Given the description of an element on the screen output the (x, y) to click on. 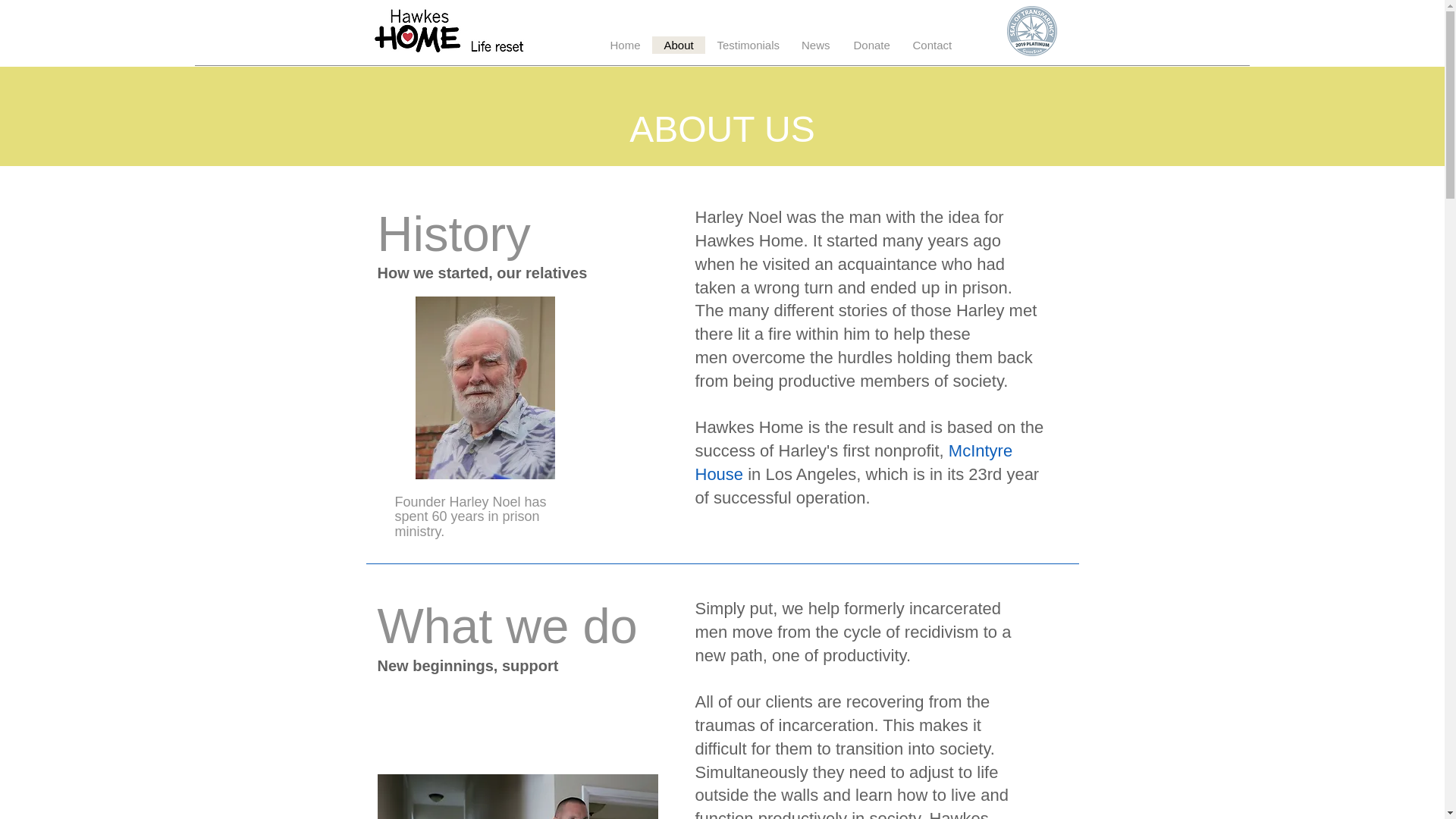
McIntyre House (852, 462)
Testimonials (746, 45)
Home (623, 45)
Donate (871, 45)
Contact (931, 45)
About (678, 45)
News (815, 45)
